Given the description of an element on the screen output the (x, y) to click on. 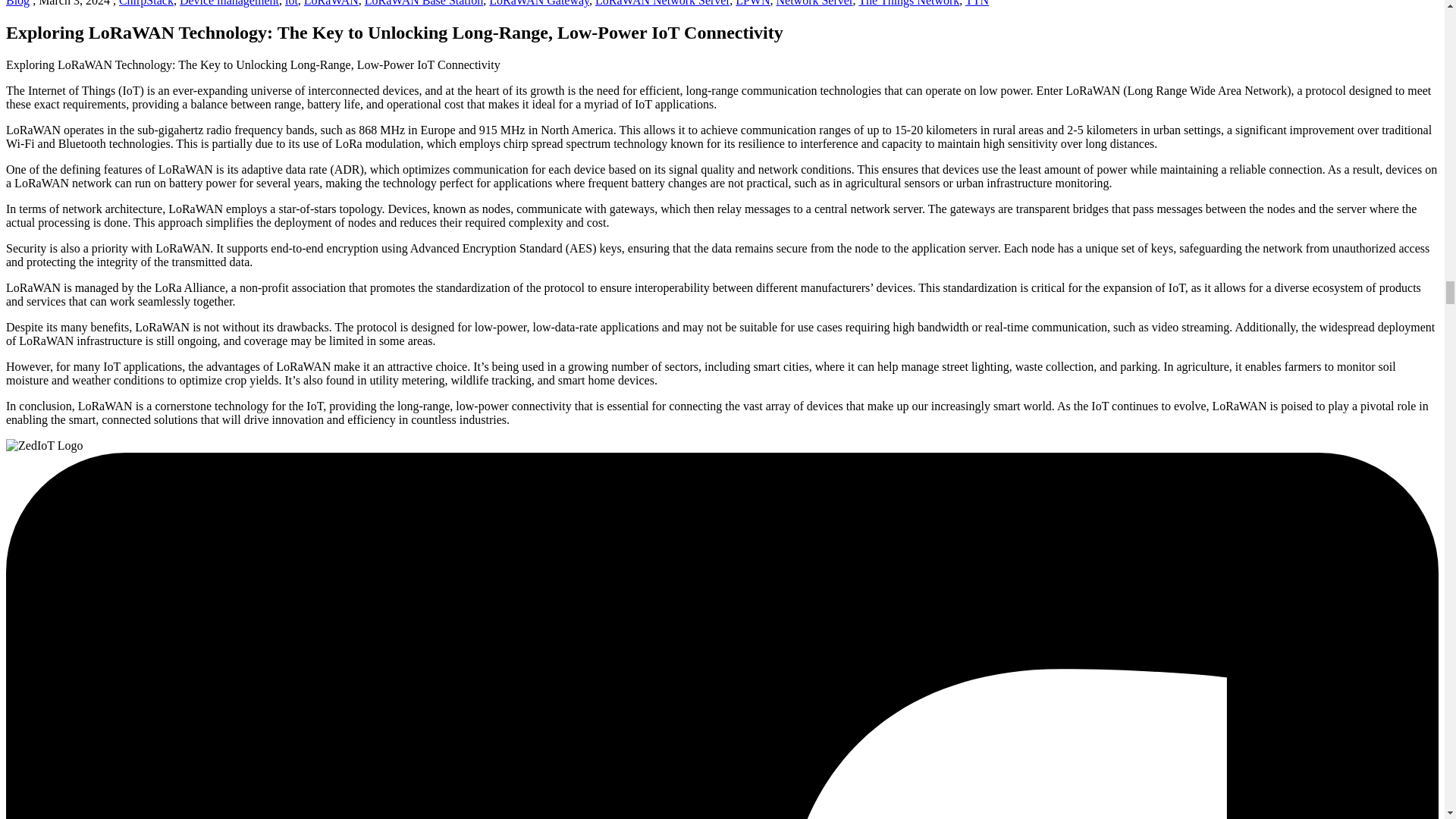
How to Choose Open-Source LoRaWAN Network Servers 2 (43, 445)
